Given the description of an element on the screen output the (x, y) to click on. 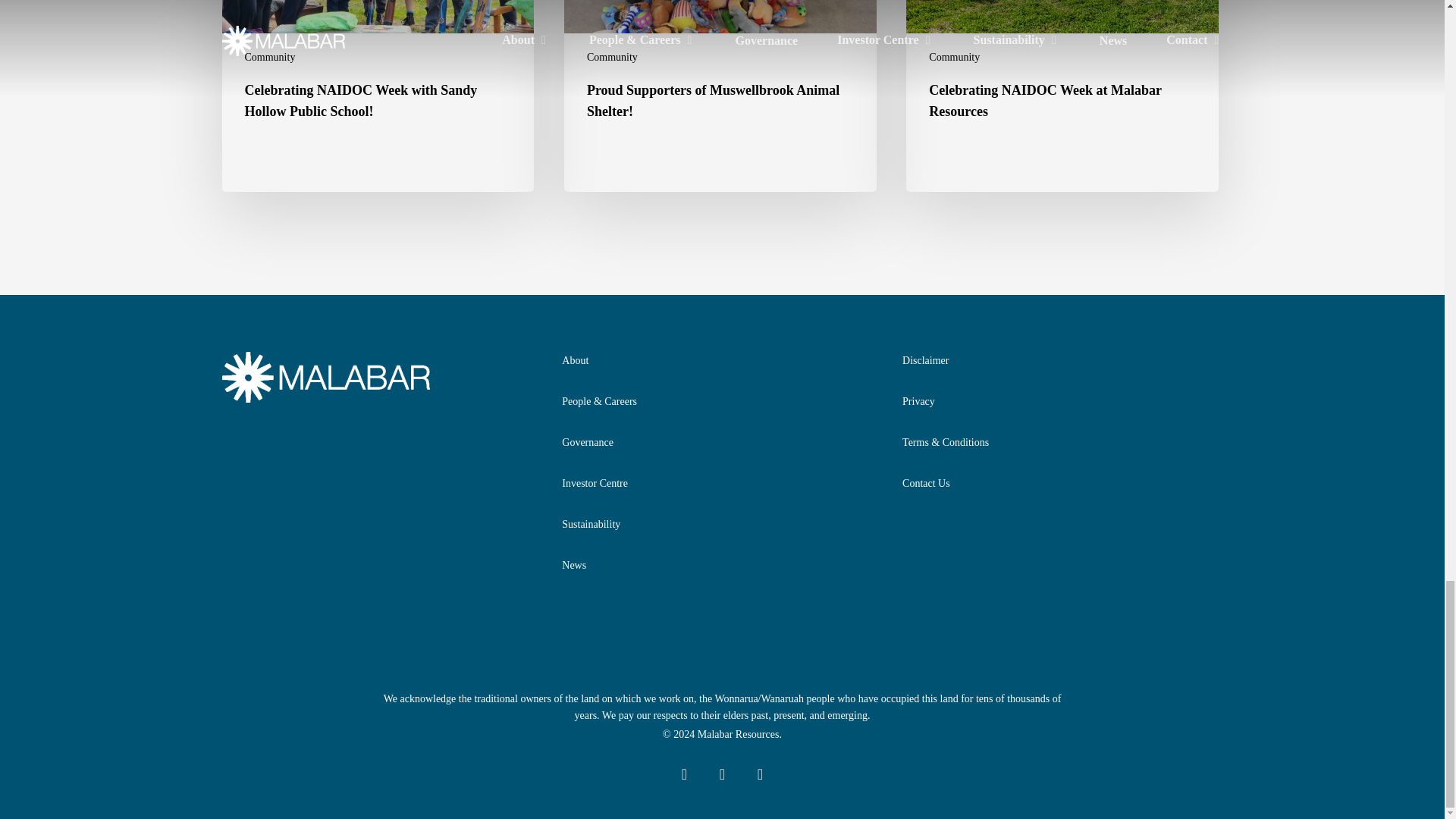
Community (269, 56)
Community (611, 56)
